Given the description of an element on the screen output the (x, y) to click on. 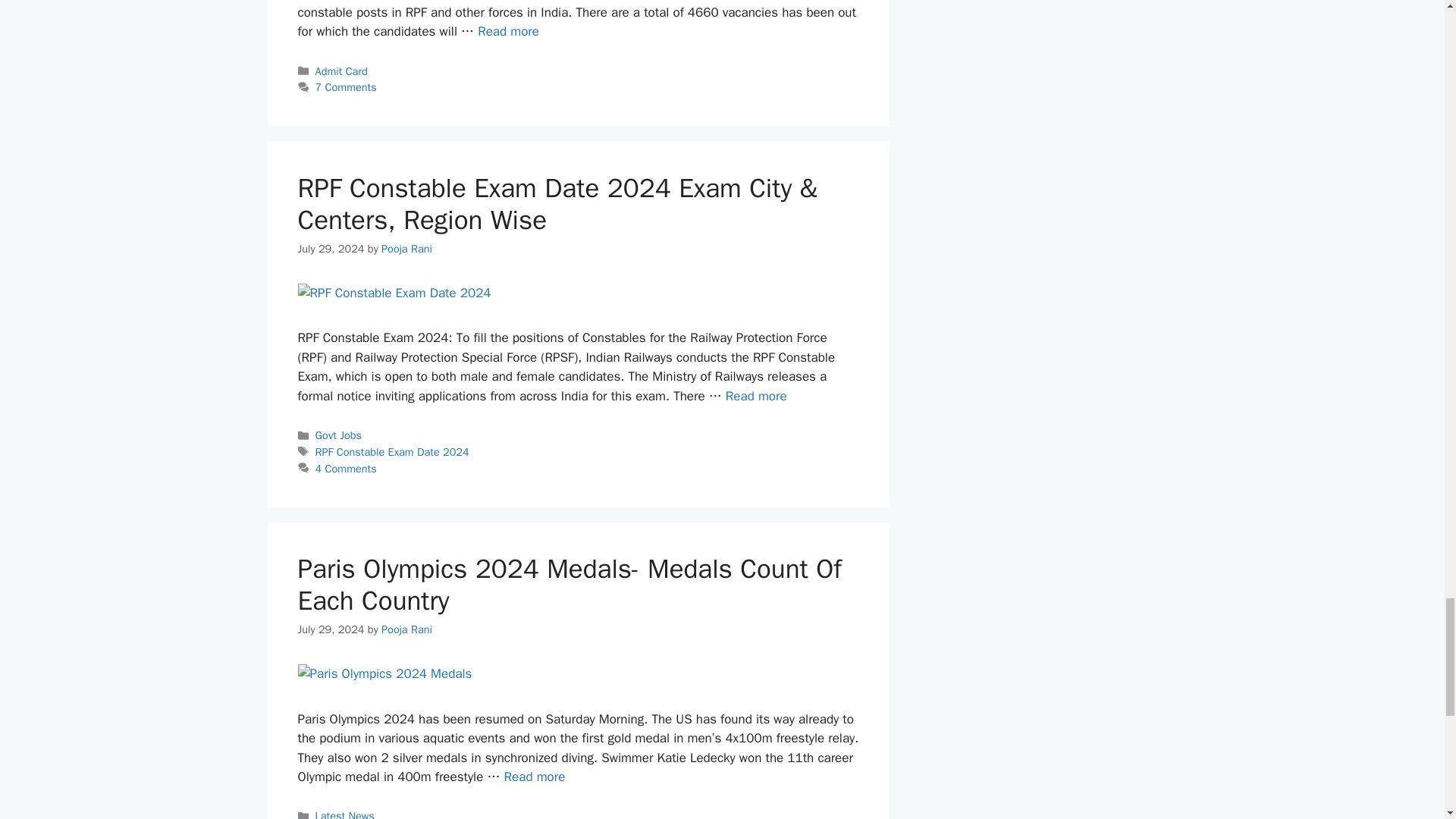
RPF Constable Admit Card 2024 and Exam Date to be announced (507, 31)
View all posts by Pooja Rani (406, 248)
